Given the description of an element on the screen output the (x, y) to click on. 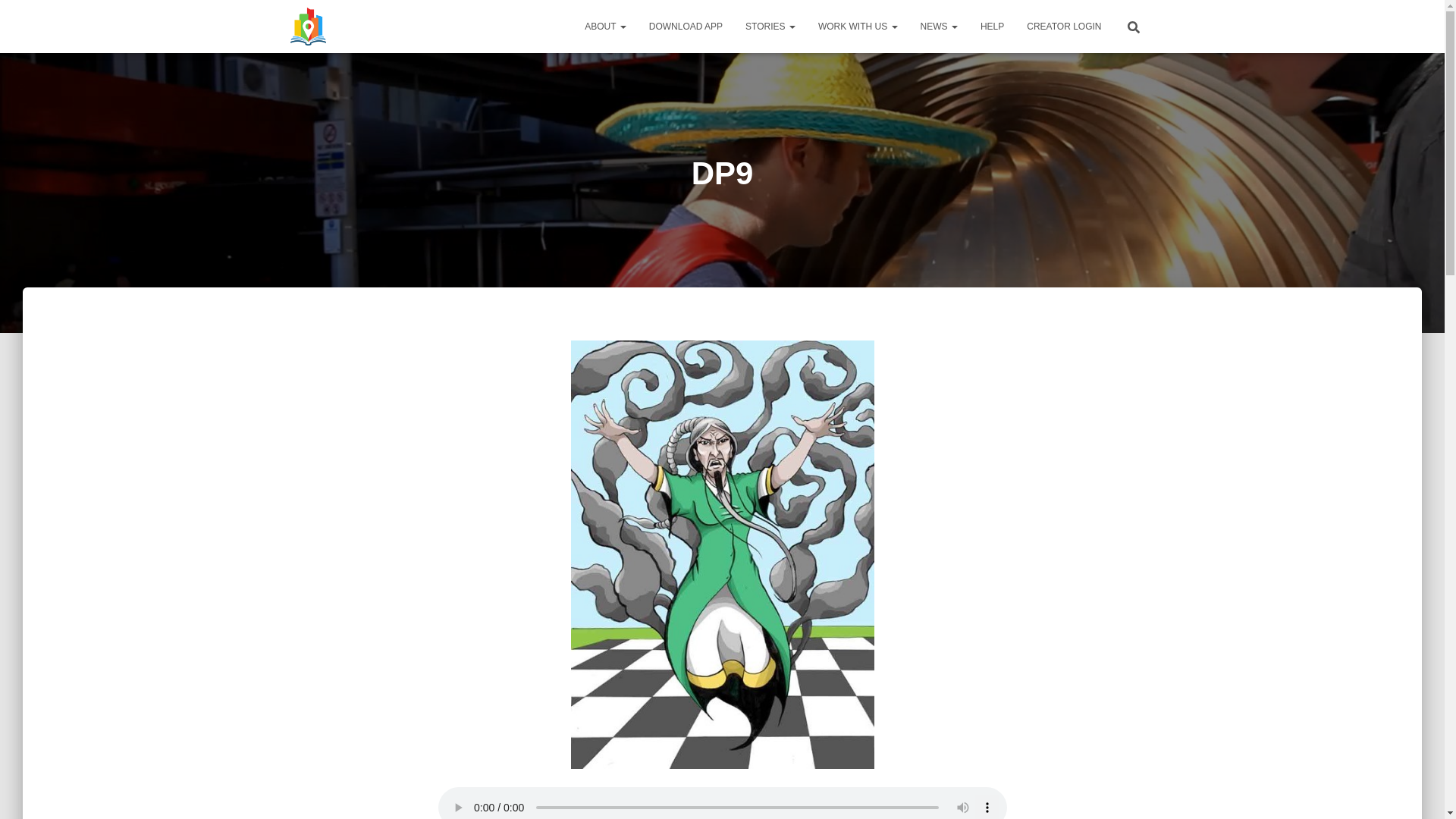
Download App (685, 26)
ABOUT (605, 26)
Story City (308, 26)
Search (16, 16)
STORIES (769, 26)
About (605, 26)
Work With Us (857, 26)
CREATOR LOGIN (1063, 26)
WORK WITH US (857, 26)
DOWNLOAD APP (685, 26)
